Given the description of an element on the screen output the (x, y) to click on. 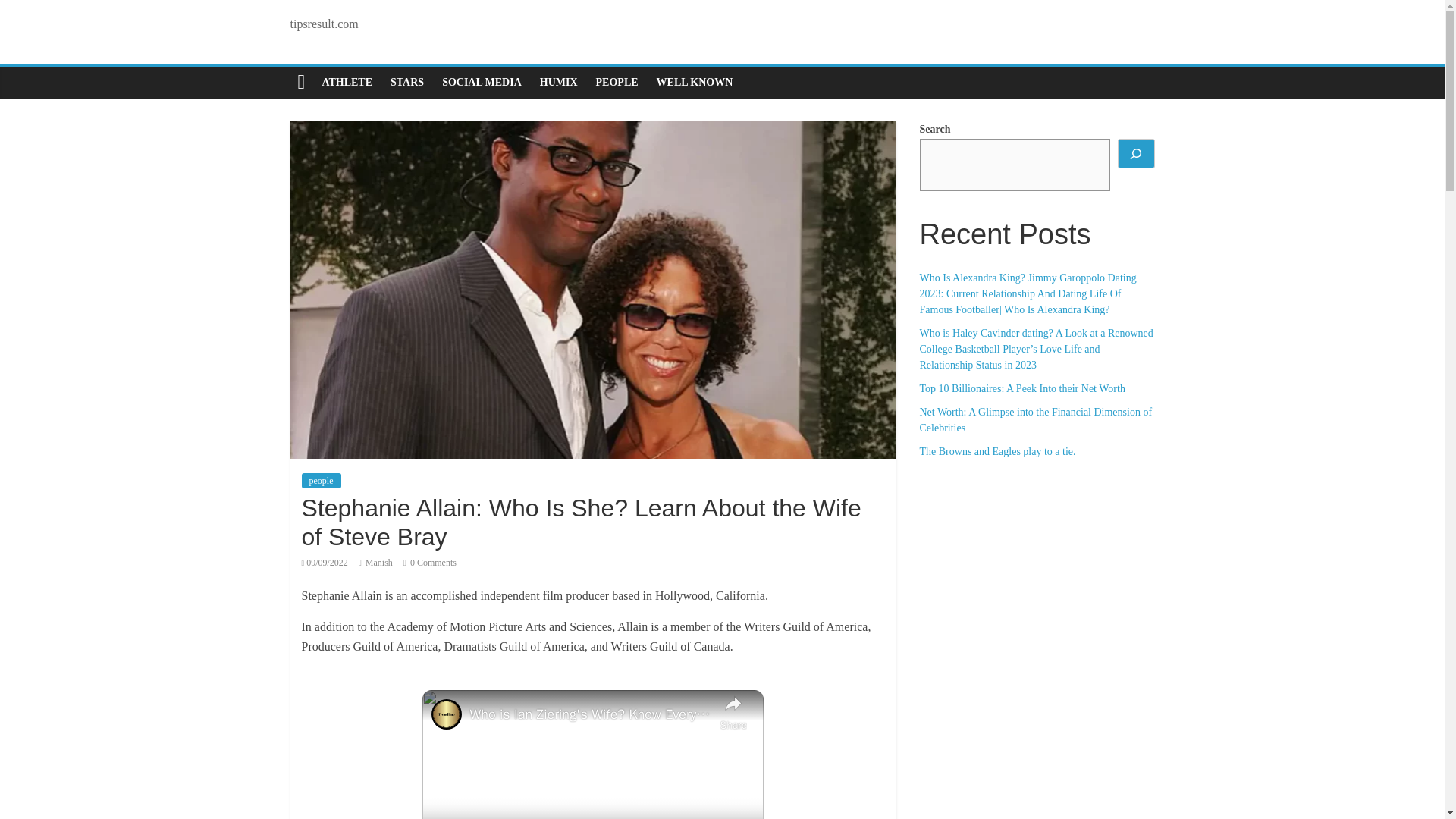
HUMIX (558, 82)
PEOPLE (616, 82)
Manish (379, 562)
10:05 am (324, 562)
Manish (379, 562)
WELL KNOWN (694, 82)
0 Comments (430, 562)
SOCIAL MEDIA (481, 82)
people (320, 480)
STARS (406, 82)
ATHLETE (347, 82)
